Given the description of an element on the screen output the (x, y) to click on. 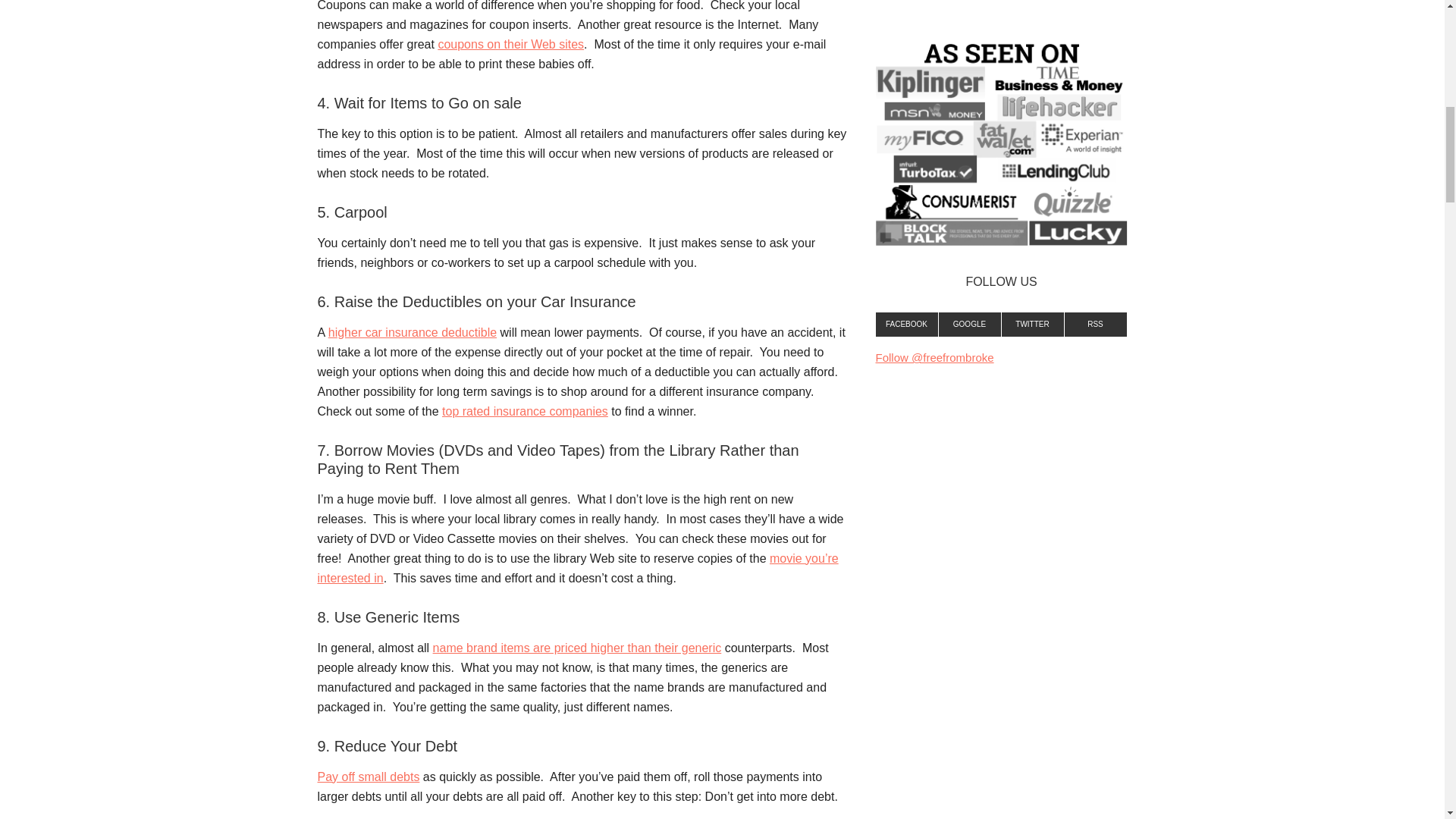
Pay off small debts (368, 776)
name brand items are priced higher than their generic (577, 647)
Eat healthy on a budget. (577, 647)
higher car insurance deductible (412, 332)
Steps to pay off debt. (368, 776)
coupons on their Web sites (510, 43)
top rated insurance companies (525, 410)
